Given the description of an element on the screen output the (x, y) to click on. 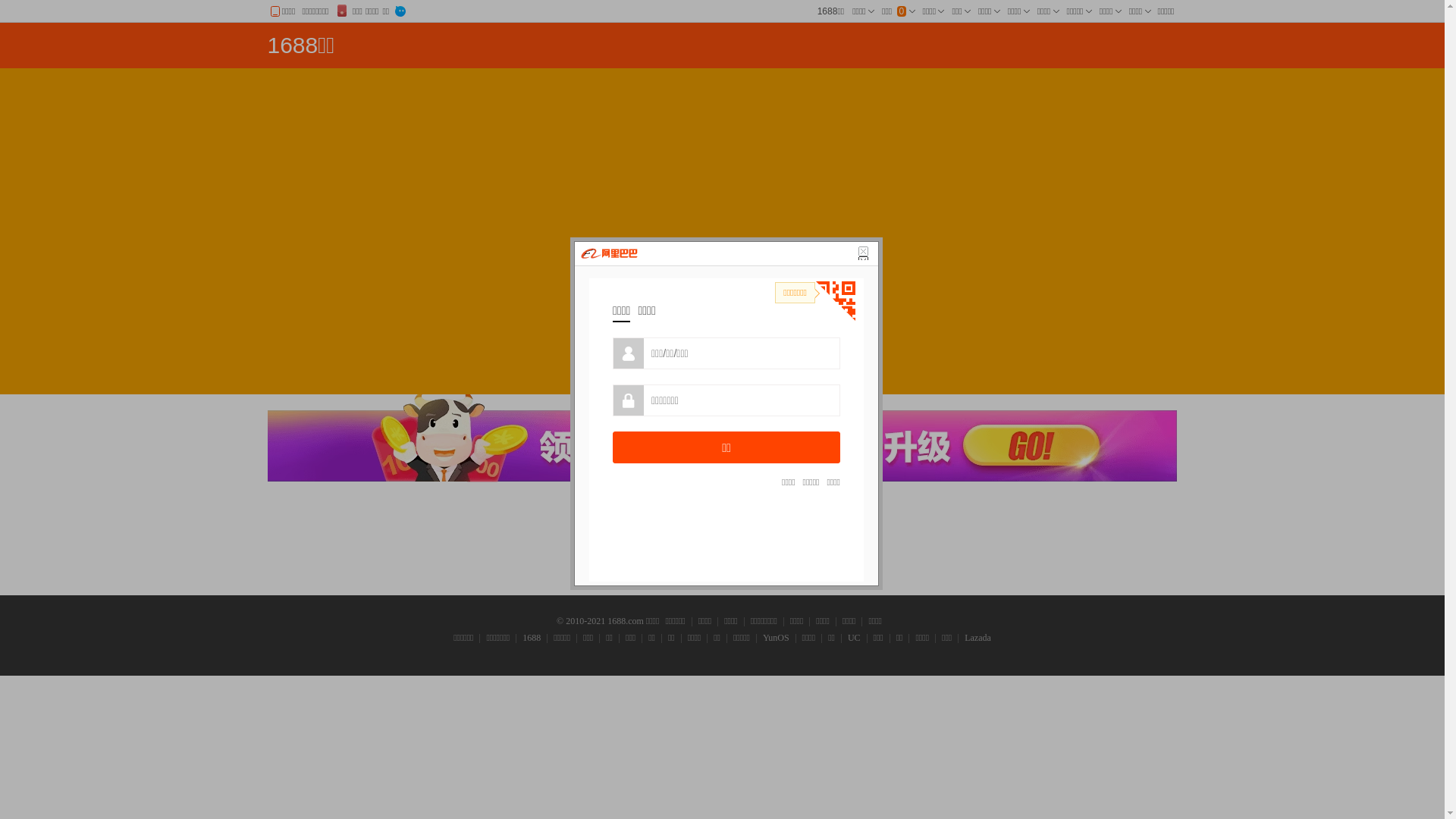
UC Element type: text (853, 638)
1688 Element type: text (530, 638)
YunOS Element type: text (775, 638)
Lazada Element type: text (977, 638)
